Given the description of an element on the screen output the (x, y) to click on. 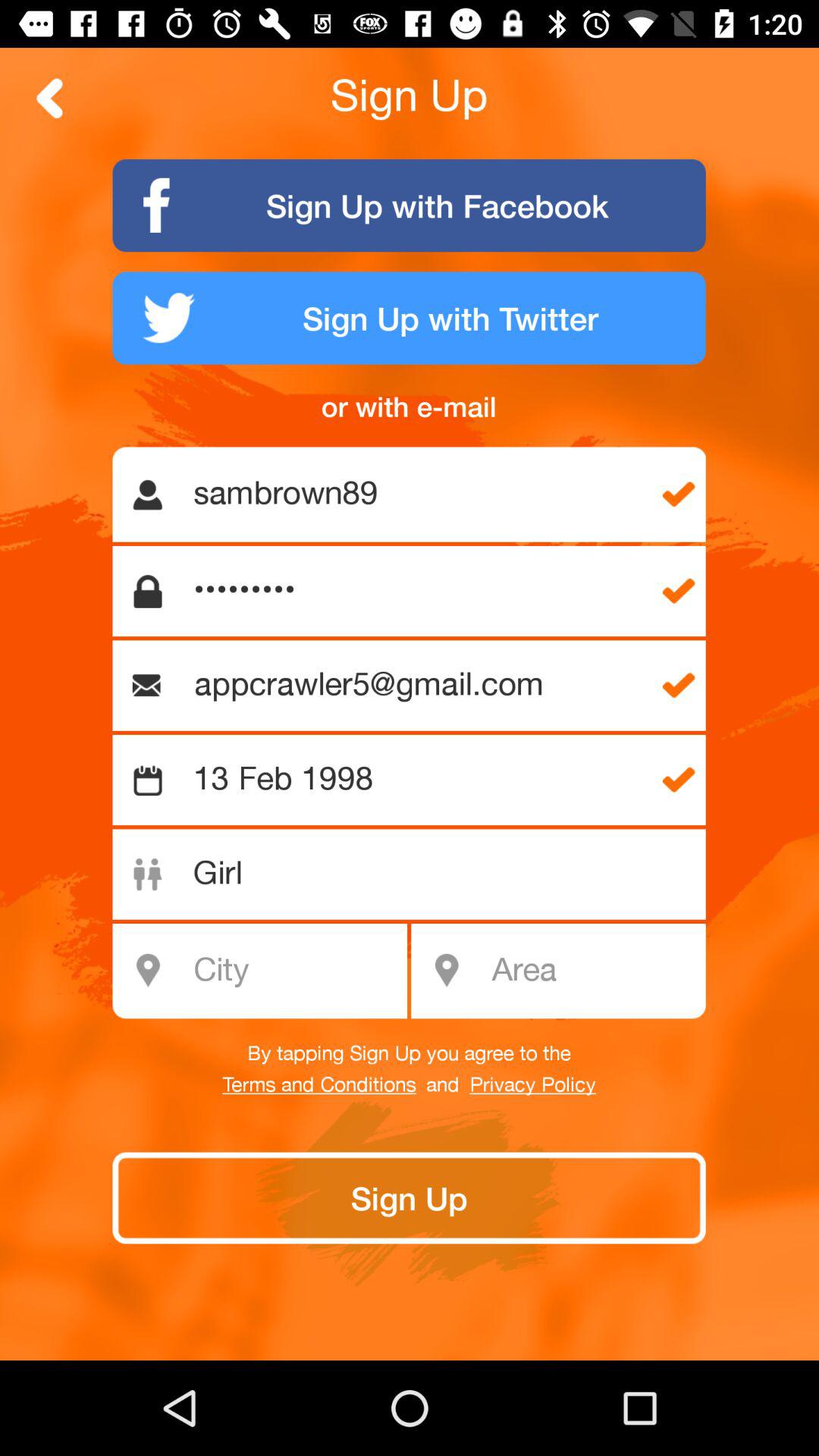
click the location icon on the web page (446, 970)
click on the text field which is below or with email (417, 493)
go to the blue colored box above the text or with email (409, 318)
click on the button which is next to appcrawler5gmailcom (678, 685)
the second tick mark symbol from the top of the page (678, 591)
